Given the description of an element on the screen output the (x, y) to click on. 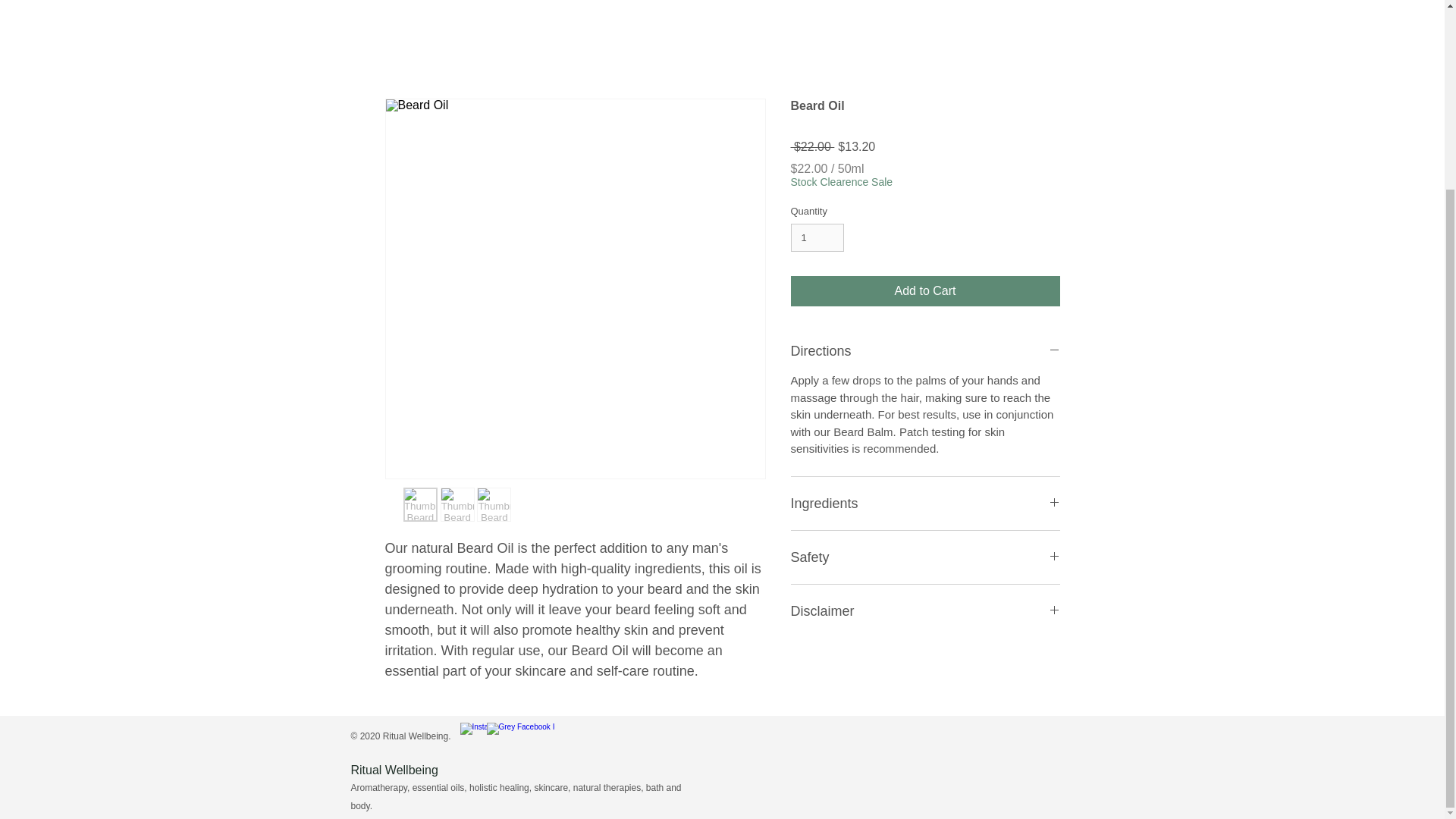
Ingredients (924, 503)
Directions (924, 351)
Safety (924, 556)
1 (817, 237)
Add to Cart (924, 291)
Disclaimer (924, 610)
